Given the description of an element on the screen output the (x, y) to click on. 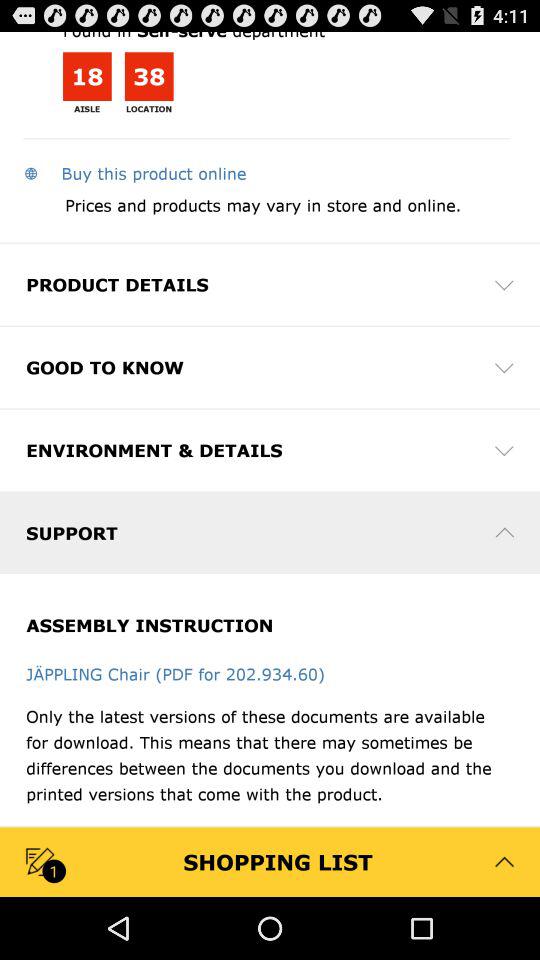
swipe until buy this product (134, 173)
